Given the description of an element on the screen output the (x, y) to click on. 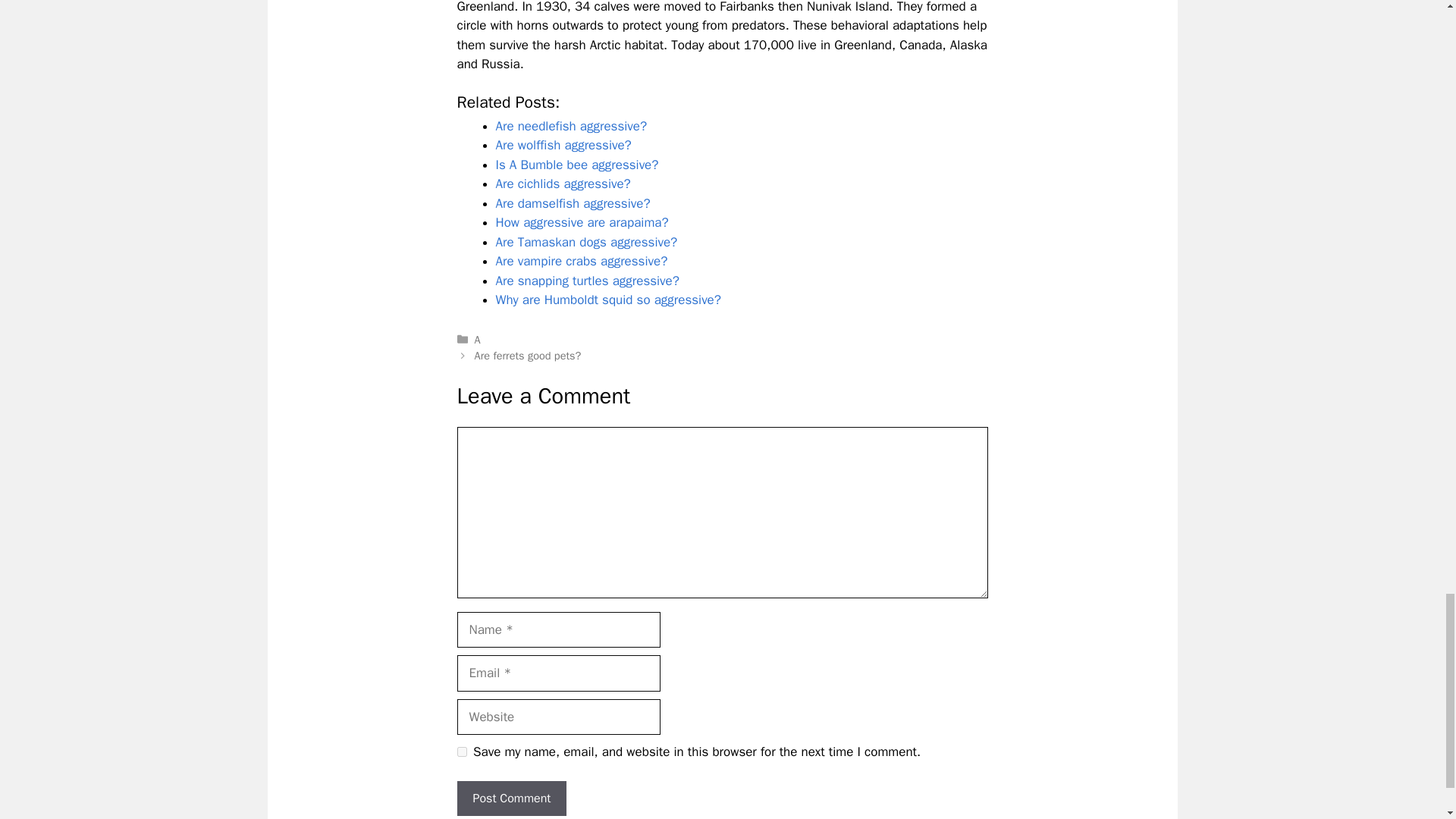
How aggressive are arapaima? (582, 222)
Why are Humboldt squid so aggressive? (608, 299)
Post Comment (511, 798)
Is A Bumble bee aggressive? (577, 164)
Post Comment (511, 798)
Are vampire crabs aggressive? (582, 261)
yes (461, 751)
Are damselfish aggressive? (573, 203)
Are snapping turtles aggressive? (587, 280)
Are wolffish aggressive? (563, 145)
Are ferrets good pets? (527, 355)
Are cichlids aggressive? (563, 183)
Are needlefish aggressive? (571, 125)
Are Tamaskan dogs aggressive? (587, 242)
Are cichlids aggressive? (563, 183)
